Given the description of an element on the screen output the (x, y) to click on. 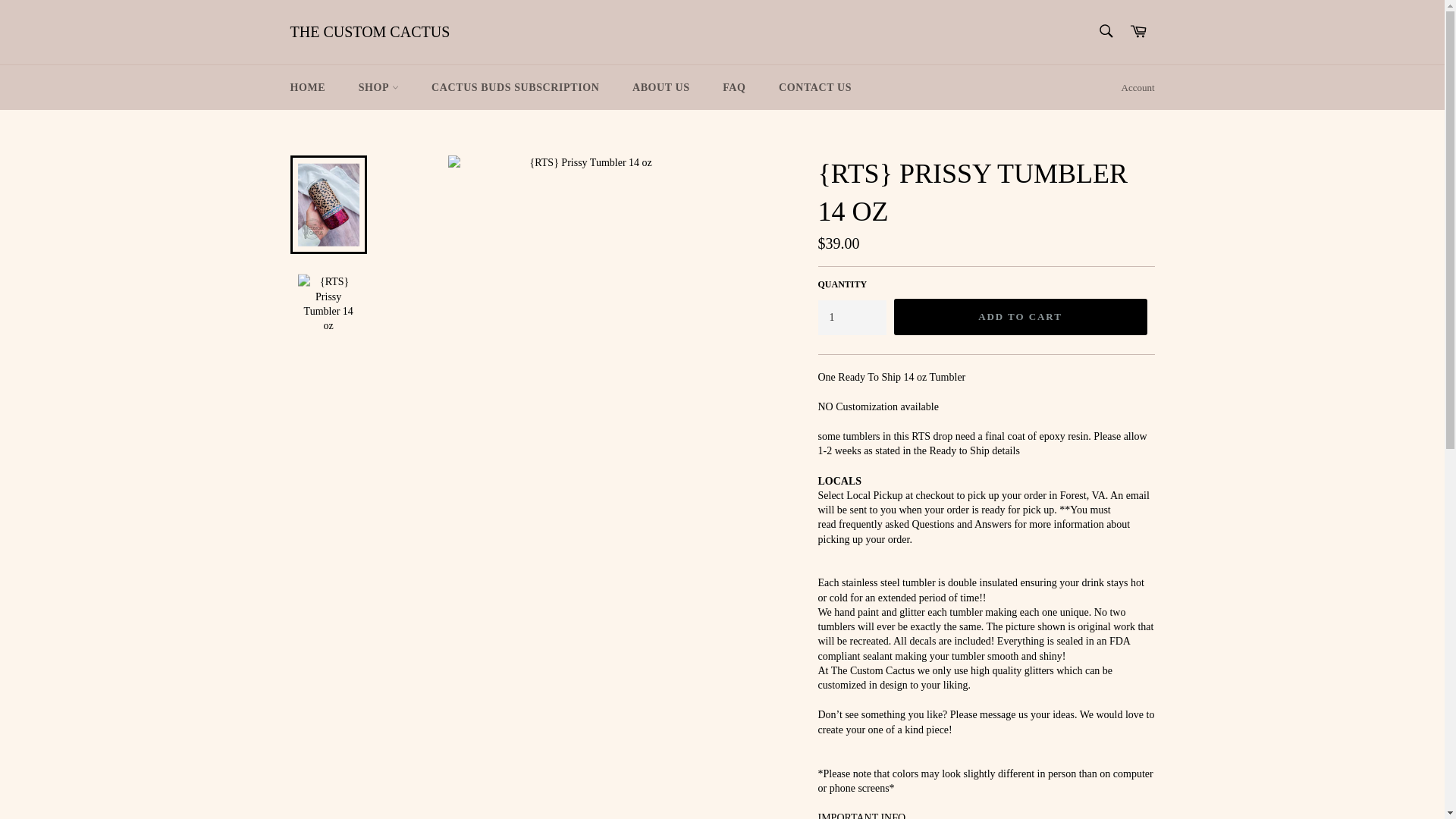
Cart (1138, 32)
1 (850, 317)
THE CUSTOM CACTUS (369, 32)
Search (1104, 30)
